Given the description of an element on the screen output the (x, y) to click on. 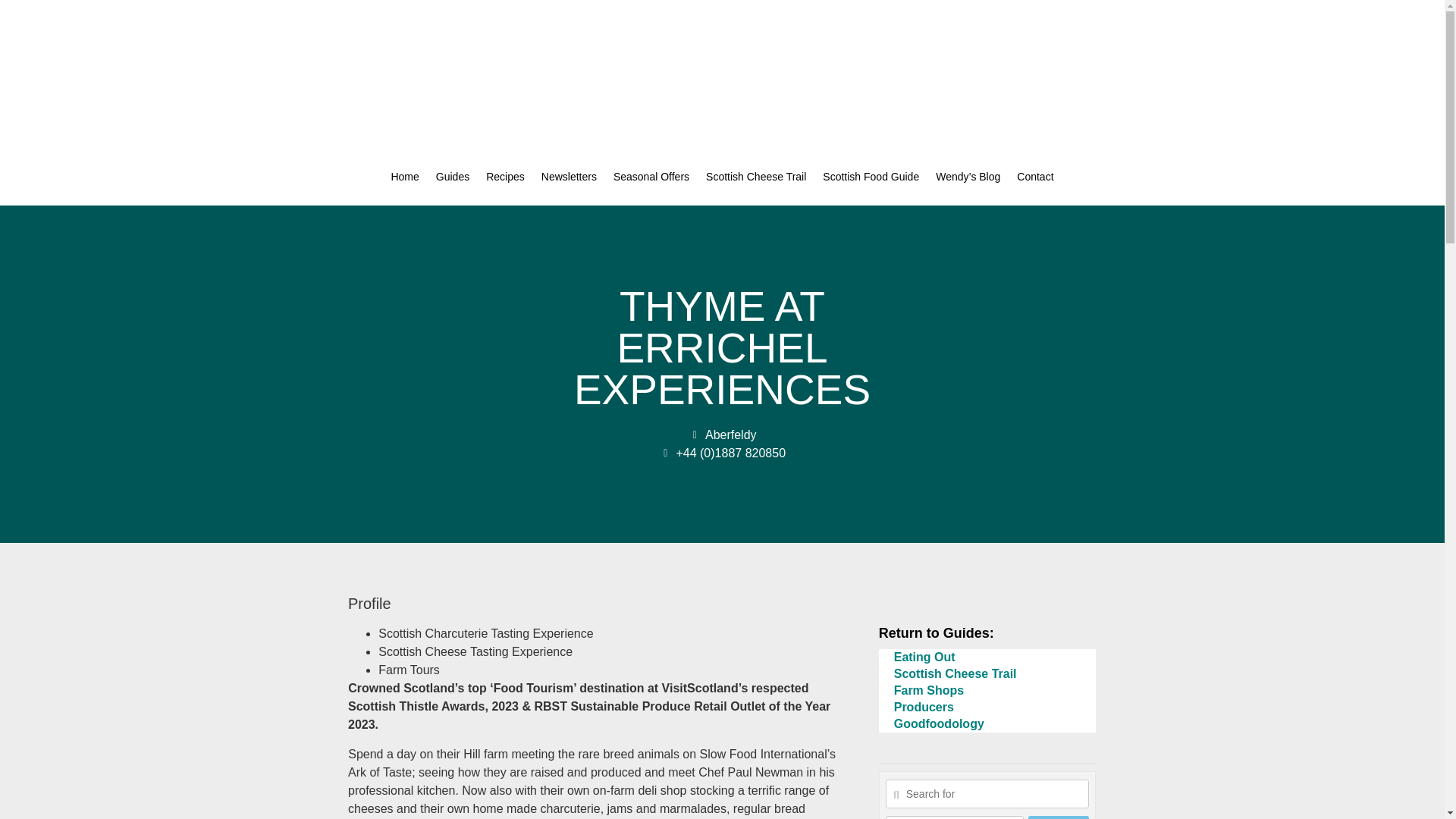
Guides (452, 176)
Seasonal Offers (651, 176)
Recipes (504, 176)
Scottish Food Guide (870, 176)
Contact (1035, 176)
Scottish Cheese Trail (755, 176)
Home (403, 176)
Newsletters (568, 176)
